Given the description of an element on the screen output the (x, y) to click on. 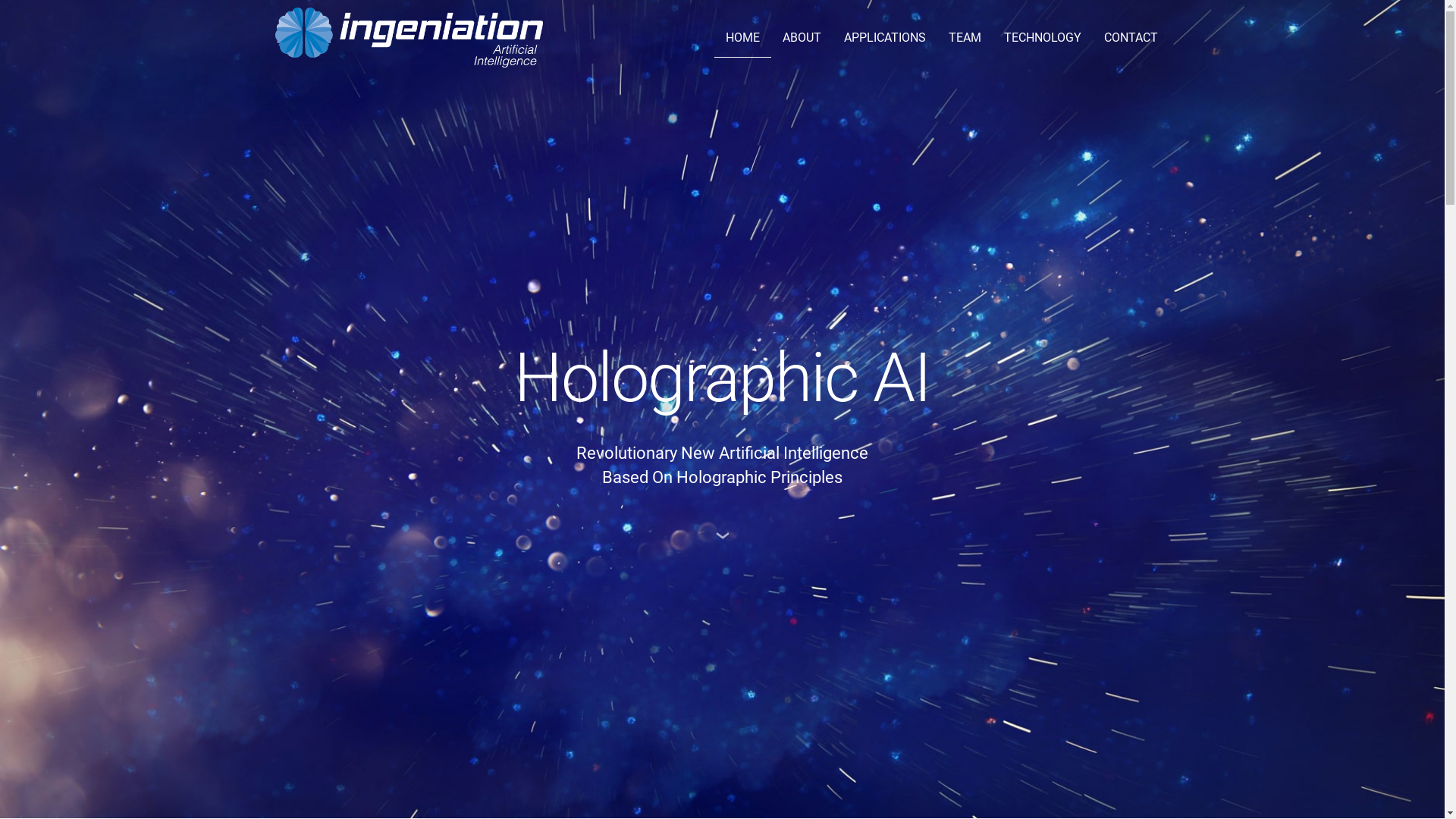
TEAM Element type: text (964, 37)
ABOUT Element type: text (801, 37)
CONTACT Element type: text (1130, 37)
HOME Element type: text (742, 37)
APPLICATIONS Element type: text (884, 37)
TECHNOLOGY Element type: text (1042, 37)
